Given the description of an element on the screen output the (x, y) to click on. 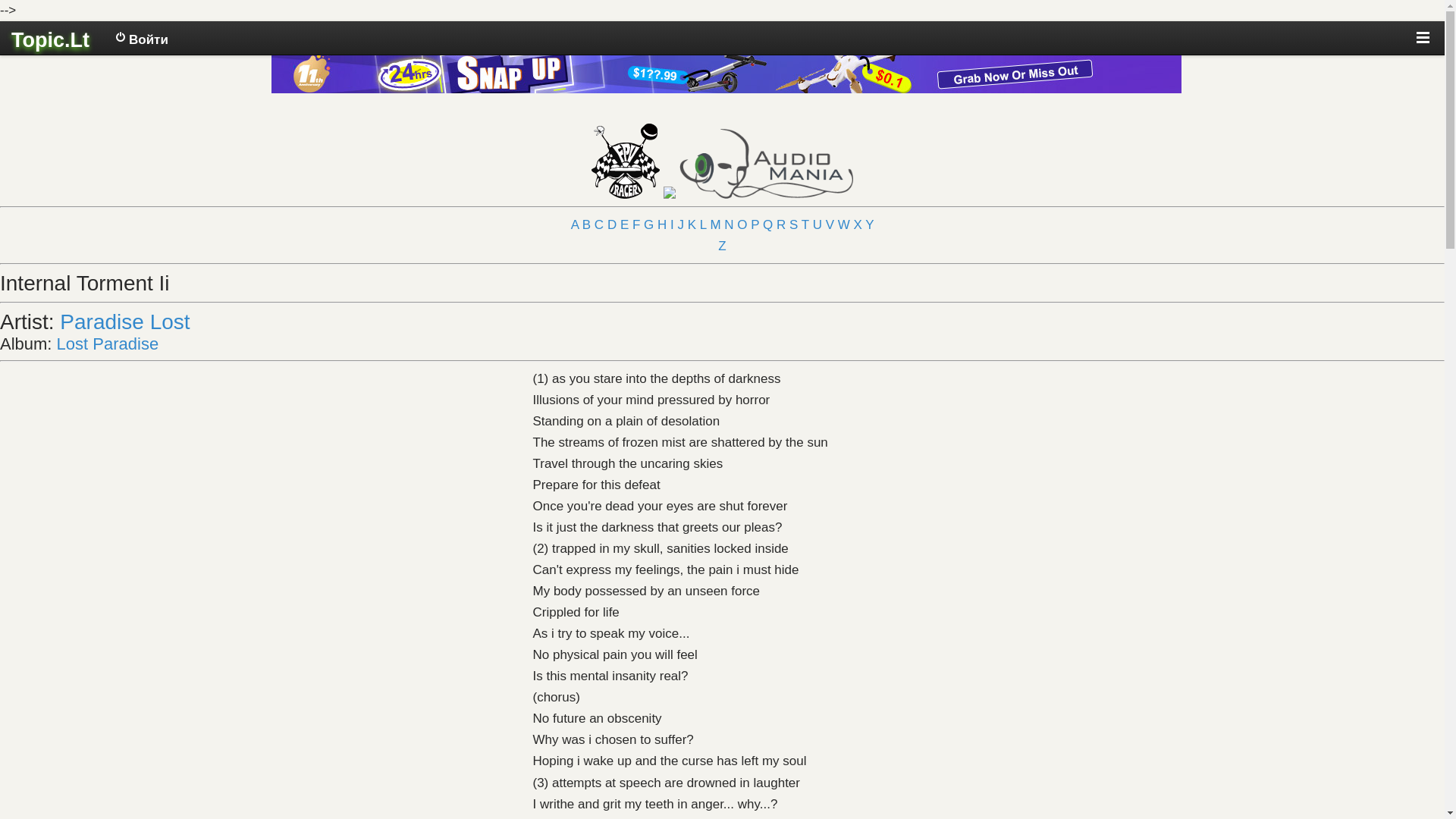
Topic.Lt (50, 40)
Fpv Racer (625, 187)
Audio Video Music box (766, 187)
